Given the description of an element on the screen output the (x, y) to click on. 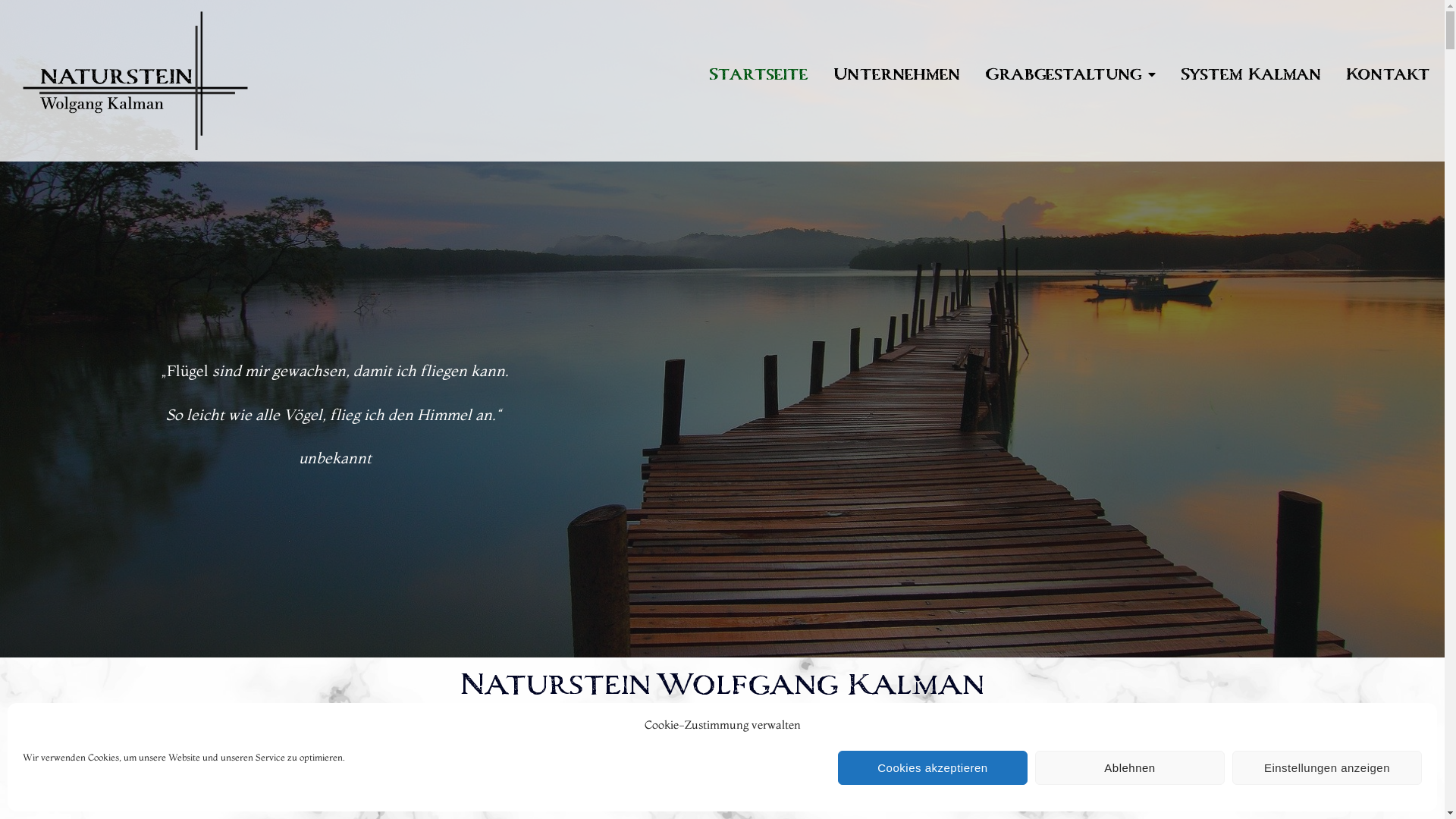
Ablehnen Element type: text (1129, 767)
System Kalman Element type: text (1250, 74)
Kontakt Element type: text (1387, 74)
Unternehmen Element type: text (895, 74)
Grabgestaltung Element type: text (1069, 74)
Einstellungen anzeigen Element type: text (1326, 767)
Cookies akzeptieren Element type: text (932, 767)
Startseite Element type: text (758, 74)
